Given the description of an element on the screen output the (x, y) to click on. 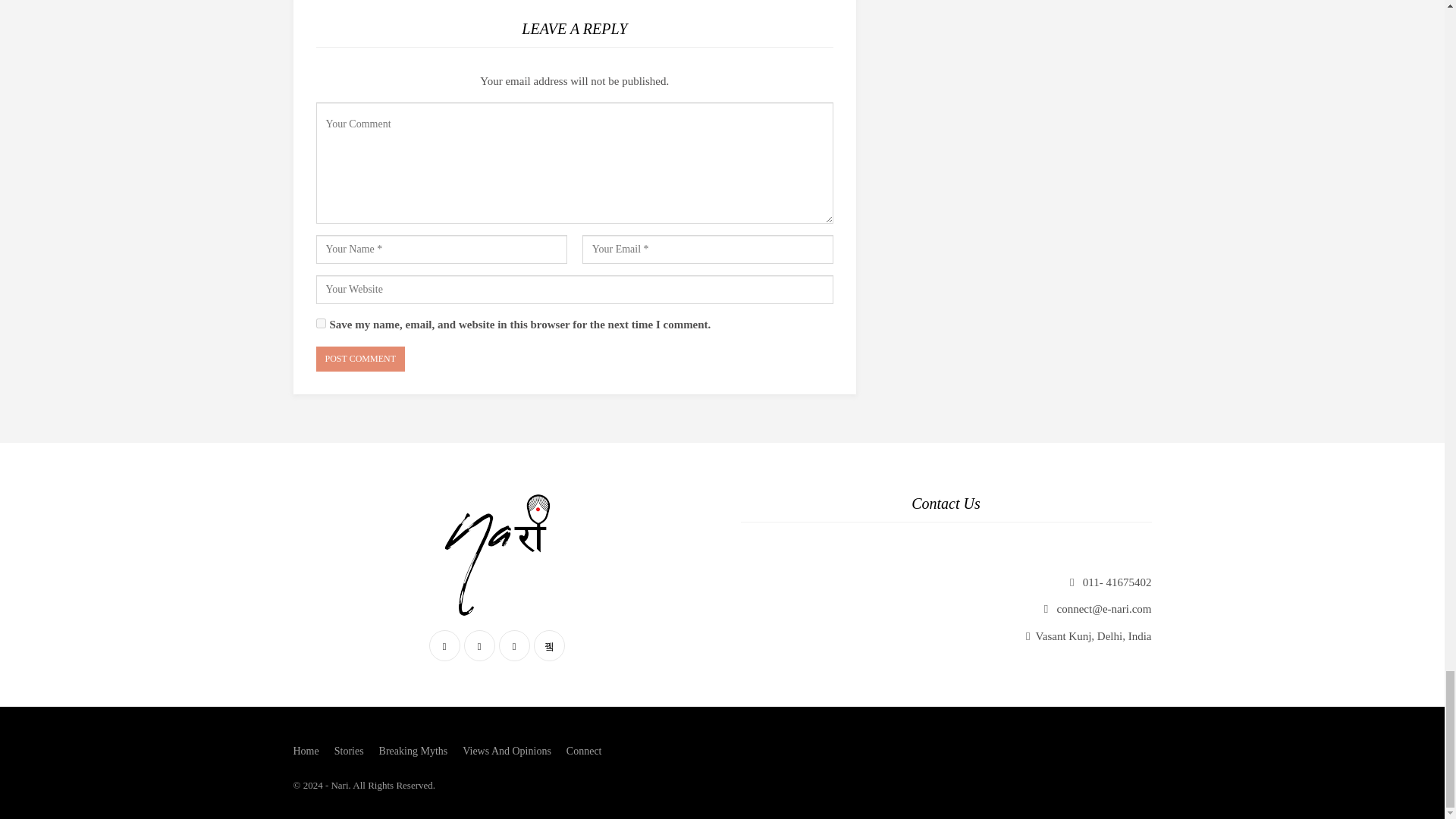
yes (319, 323)
Post Comment (359, 358)
